Given the description of an element on the screen output the (x, y) to click on. 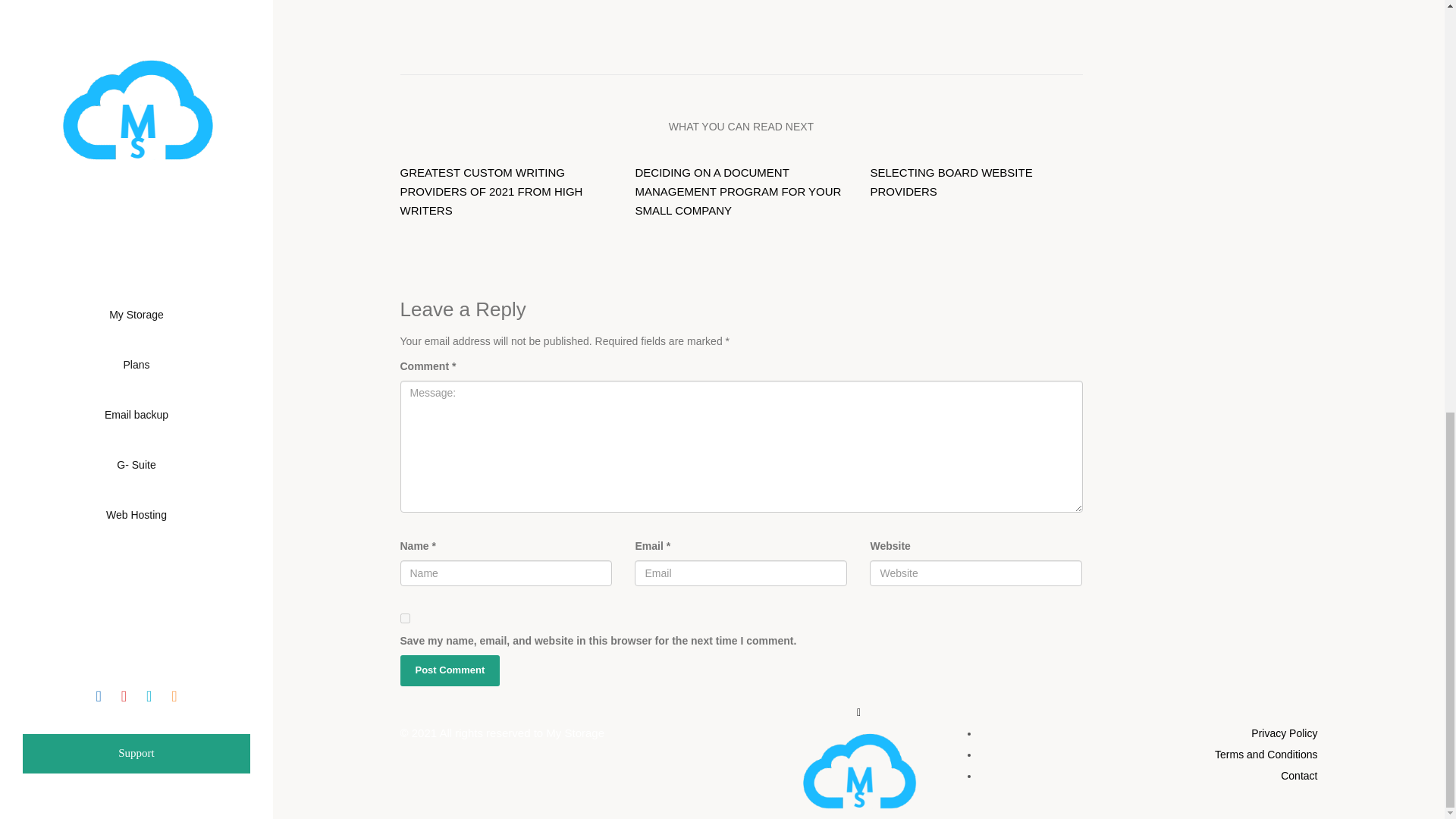
Post Comment (450, 670)
yes (405, 618)
Terms and Conditions (1133, 754)
Post Comment (1265, 754)
GREATEST CUSTOM WRITING PROVIDERS OF 2021 FROM HIGH WRITERS (450, 670)
Privacy Policy (491, 191)
SELECTING BOARD WEBSITE PROVIDERS (1283, 733)
Contact (950, 182)
